Given the description of an element on the screen output the (x, y) to click on. 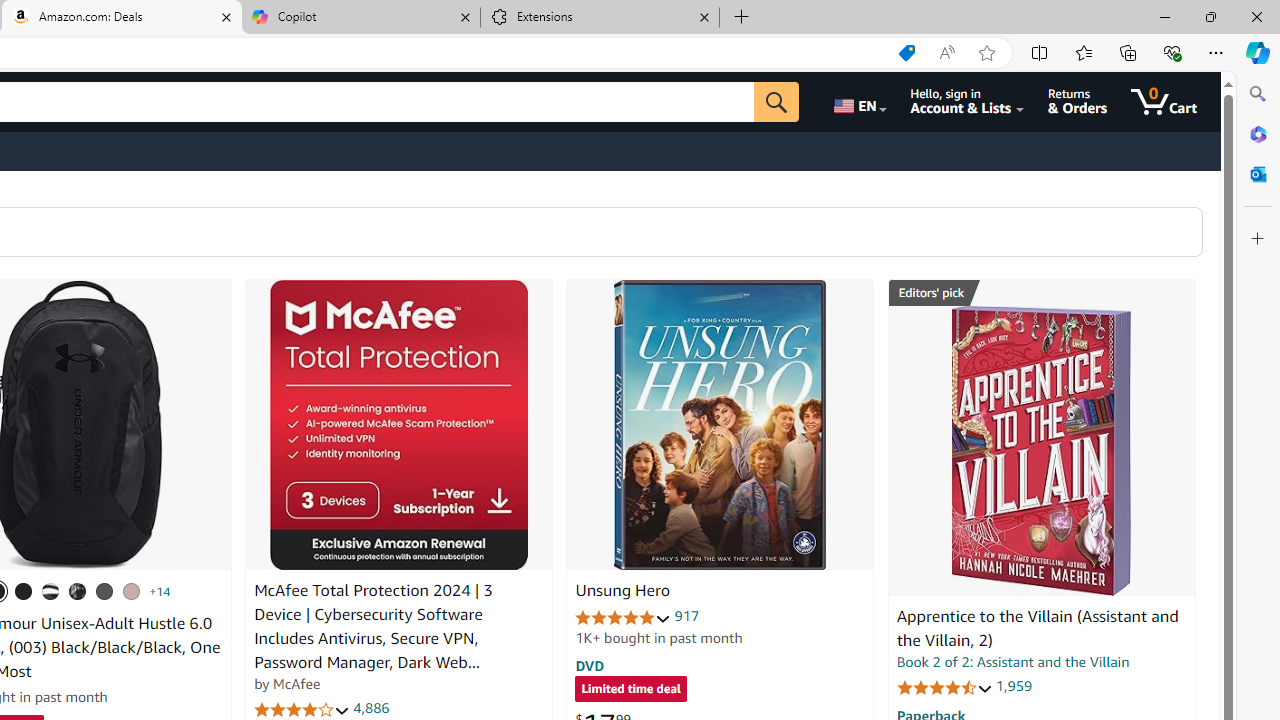
4.9 out of 5 stars (623, 616)
Returns & Orders (1077, 101)
0 items in cart (1163, 101)
4,886 (371, 708)
Unsung Hero (622, 591)
Extensions (600, 17)
DVD (589, 665)
Shopping in Microsoft Edge (906, 53)
+14 (159, 591)
(004) Black / Black / Metallic Gold (78, 591)
(002) Black / Black / White (51, 591)
